Given the description of an element on the screen output the (x, y) to click on. 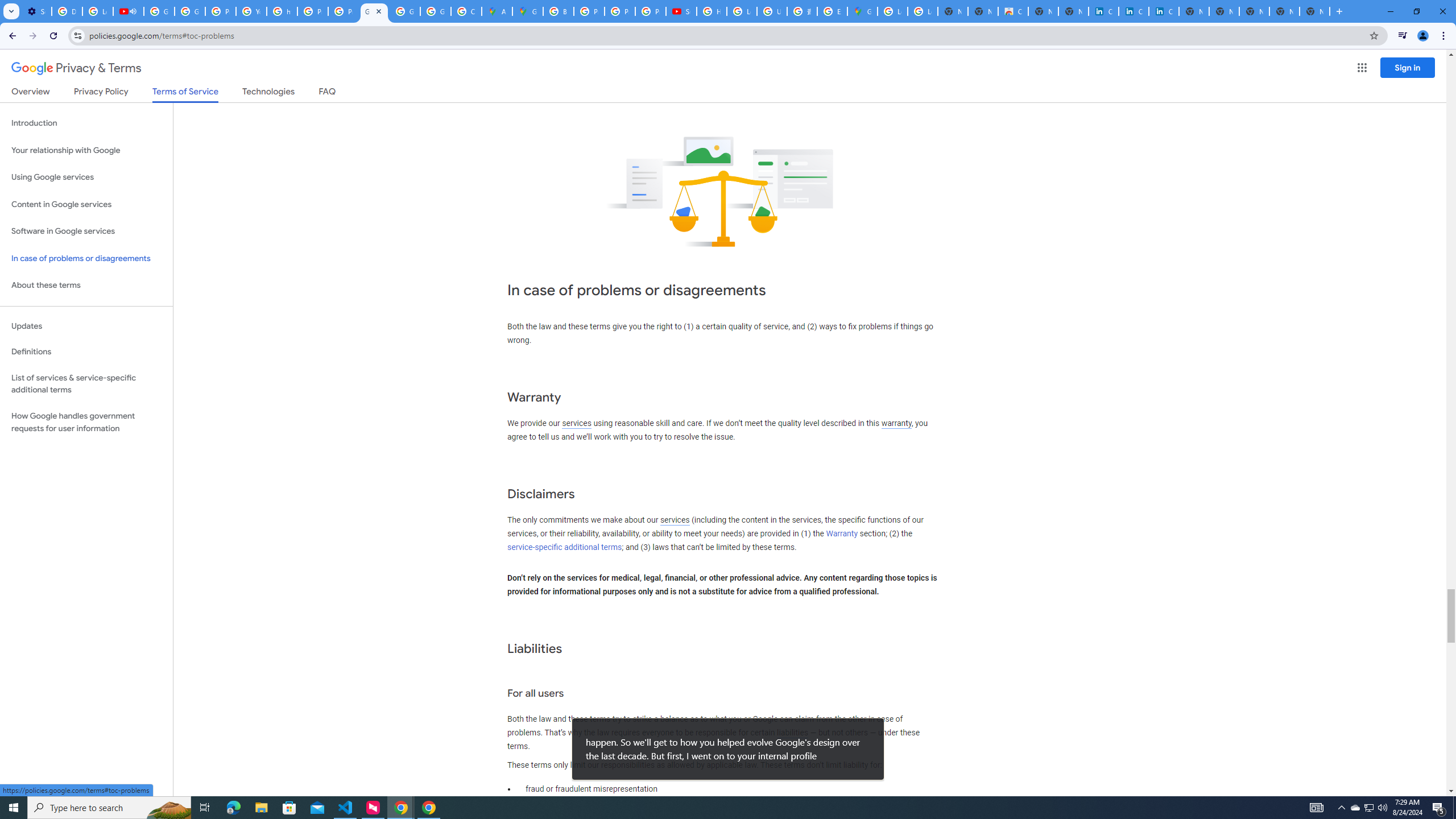
service-specific additional terms (563, 547)
Definitions (86, 352)
Subscriptions - YouTube (681, 11)
About these terms (86, 284)
Privacy Help Center - Policies Help (312, 11)
Your relationship with Google (86, 150)
